Given the description of an element on the screen output the (x, y) to click on. 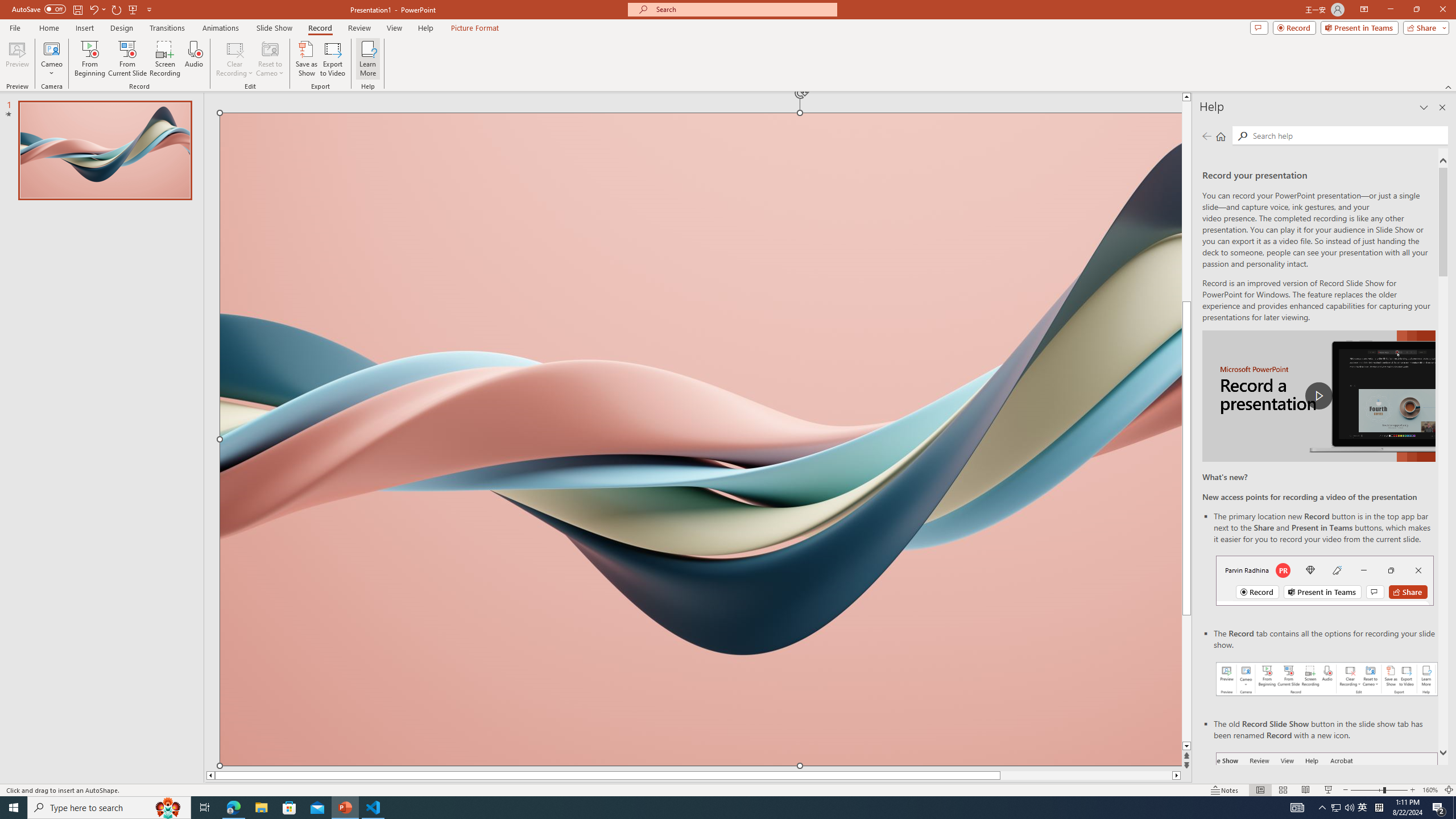
Design (122, 28)
Review (359, 28)
View (395, 28)
Normal (1260, 790)
From Beginning... (89, 58)
Close pane (1441, 107)
Help (425, 28)
Search (1241, 136)
Transitions (167, 28)
Slide Sorter (1282, 790)
AutoSave (38, 9)
From Beginning (133, 9)
